Given the description of an element on the screen output the (x, y) to click on. 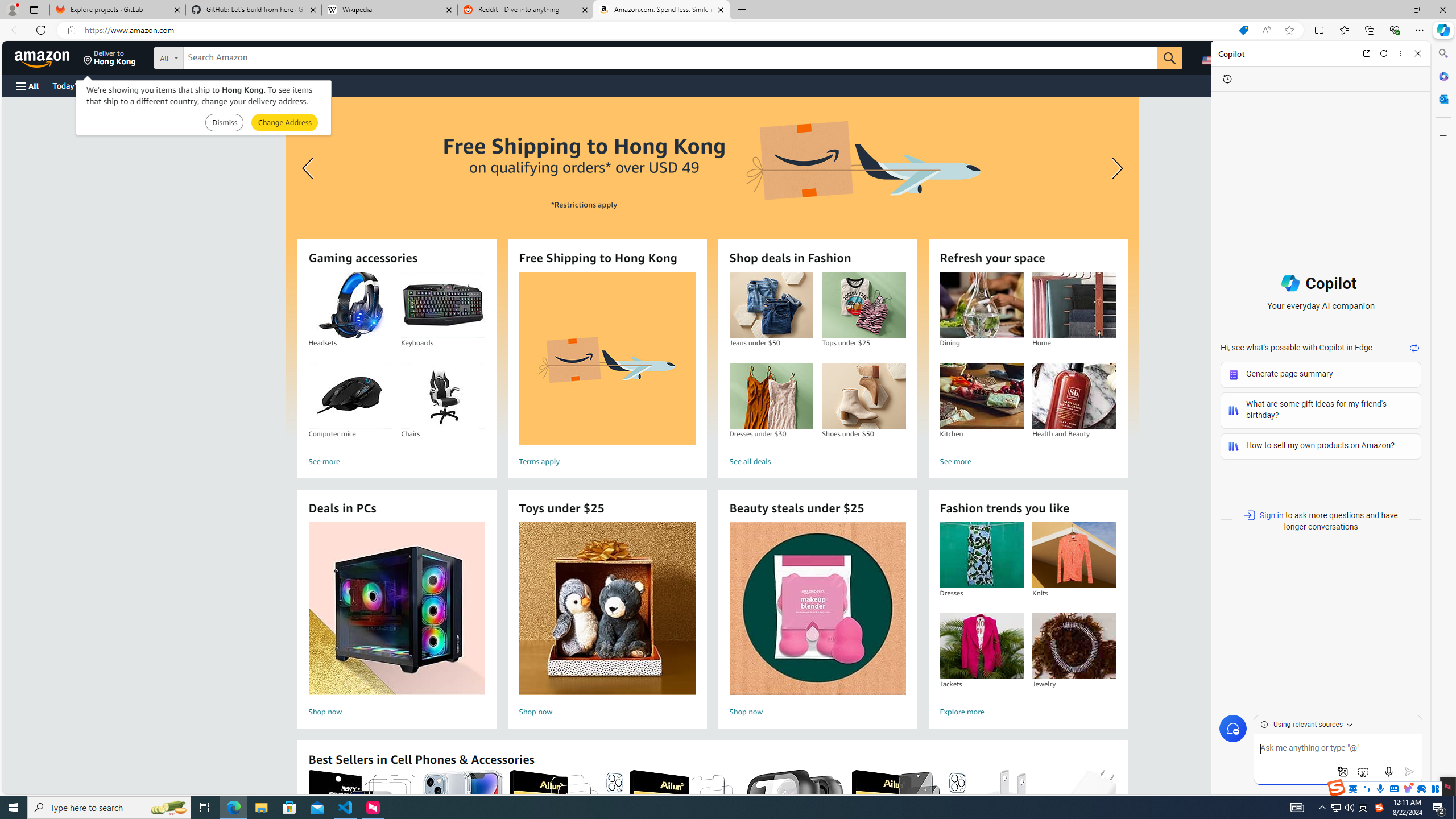
Amazon (43, 57)
Sell (290, 85)
Class: a-carousel-card (711, 267)
Amazon.com. Spend less. Smile more. (660, 9)
Shoes under $50 (863, 395)
Deals in PCs (395, 608)
Knits (1074, 555)
Keyboards (442, 304)
Health and Beauty (1074, 395)
